Given the description of an element on the screen output the (x, y) to click on. 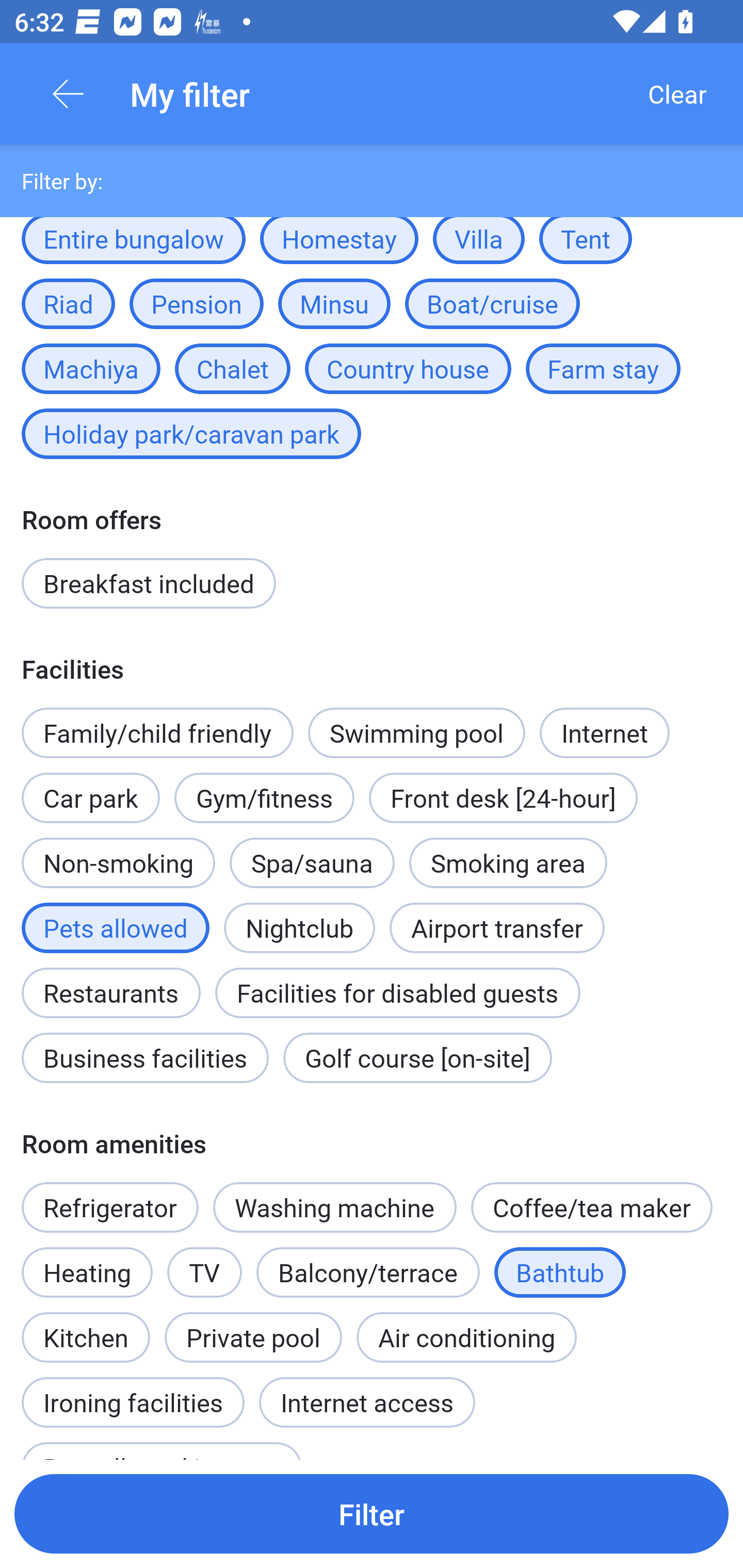
Clear (676, 93)
Breakfast included (148, 583)
Family/child friendly (157, 732)
Swimming pool (416, 732)
Internet (604, 732)
Car park (90, 787)
Gym/fitness (264, 798)
Front desk [24-hour] (503, 798)
Non-smoking (118, 863)
Spa/sauna (311, 863)
Smoking area (508, 863)
Nightclub (299, 917)
Airport transfer (496, 927)
Restaurants (110, 982)
Facilities for disabled guests (397, 993)
Business facilities (144, 1057)
Golf course [on-site] (417, 1057)
Refrigerator (109, 1207)
Washing machine (334, 1207)
Coffee/tea maker (591, 1207)
Heating (87, 1272)
TV (204, 1272)
Balcony/terrace (367, 1272)
Kitchen (85, 1326)
Private pool (252, 1337)
Air conditioning (466, 1337)
Ironing facilities (132, 1391)
Internet access (367, 1402)
Filter (371, 1513)
